Given the description of an element on the screen output the (x, y) to click on. 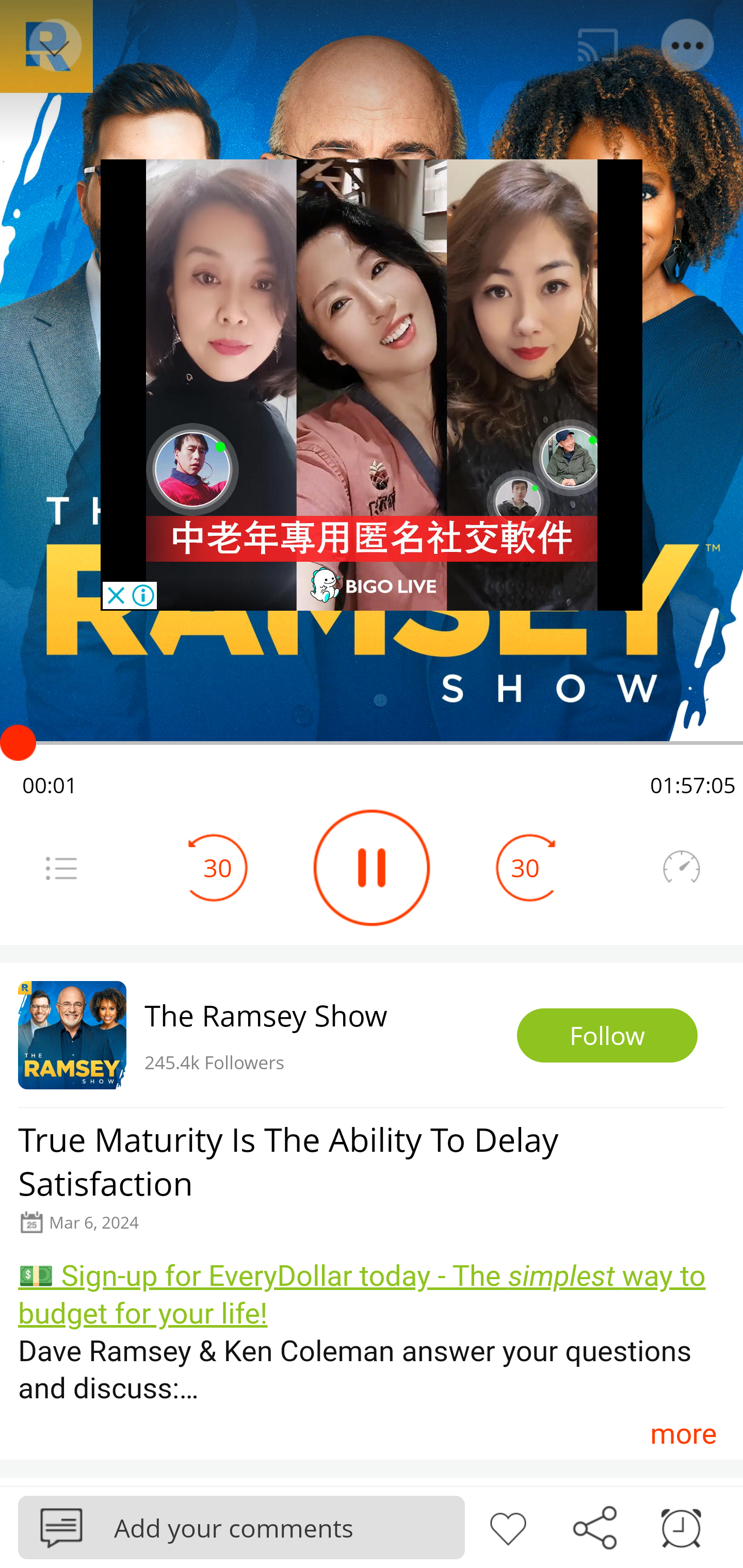
Back (53, 45)
Cast. Disconnected (597, 45)
Menu (688, 45)
Play (371, 867)
30 Seek Backward (217, 867)
30 Seek Forward (525, 867)
Menu (60, 867)
Speedometer (681, 867)
The Ramsey Show 245.4k Followers Follow (371, 1034)
Follow (607, 1035)
more (682, 1432)
Like (508, 1526)
Share (594, 1526)
Sleep timer (681, 1526)
Podbean Add your comments (241, 1526)
